Given the description of an element on the screen output the (x, y) to click on. 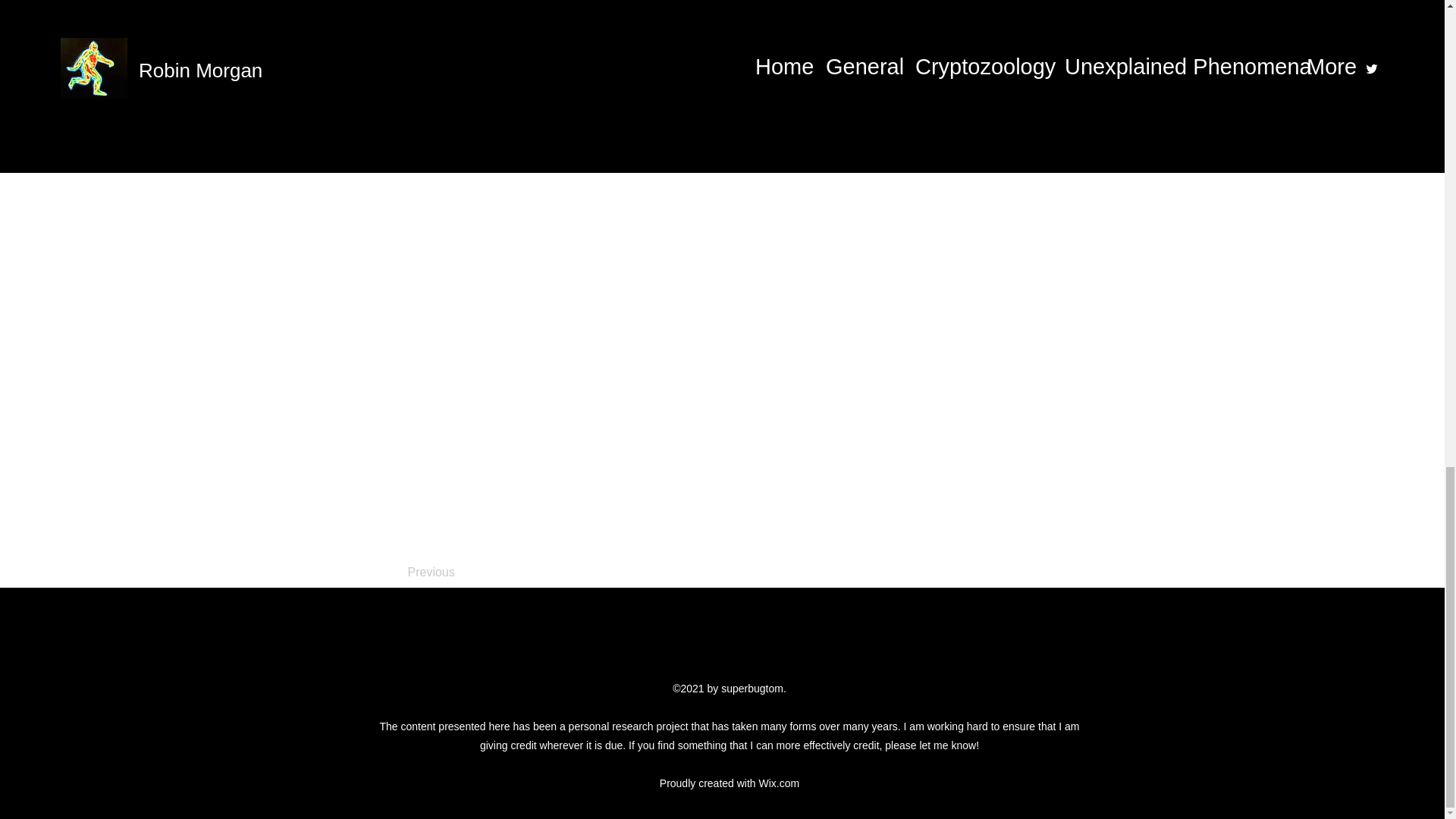
Next (1014, 147)
Previous (457, 572)
Previous (411, 147)
